Given the description of an element on the screen output the (x, y) to click on. 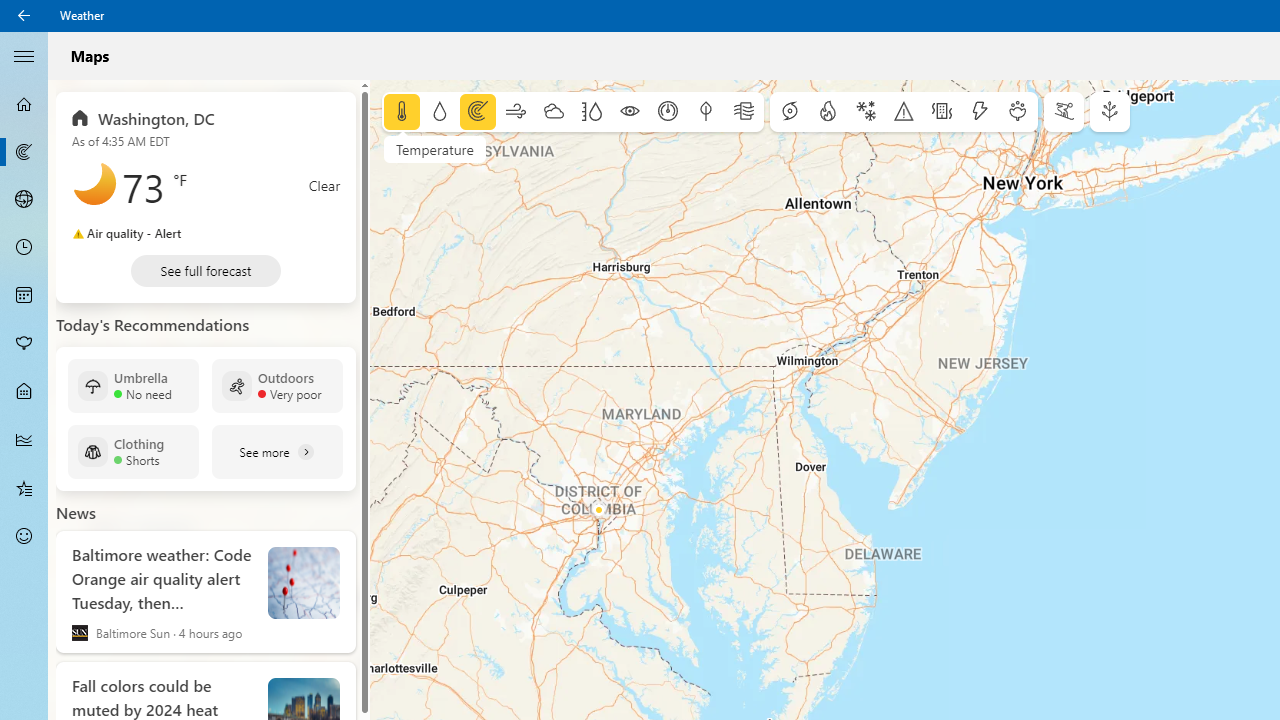
Send Feedback - Not Selected (24, 535)
Hourly Forecast - Not Selected (24, 247)
Pollen - Not Selected (24, 343)
Pollen - Not Selected (24, 343)
Life - Not Selected (24, 391)
Hourly Forecast - Not Selected (24, 247)
Monthly Forecast - Not Selected (24, 295)
3D Maps - Not Selected (24, 199)
Historical Weather - Not Selected (24, 439)
Monthly Forecast - Not Selected (24, 295)
Life - Not Selected (24, 391)
Back (24, 15)
3D Maps - Not Selected (24, 199)
Forecast - Not Selected (24, 103)
Favorites - Not Selected (24, 487)
